Given the description of an element on the screen output the (x, y) to click on. 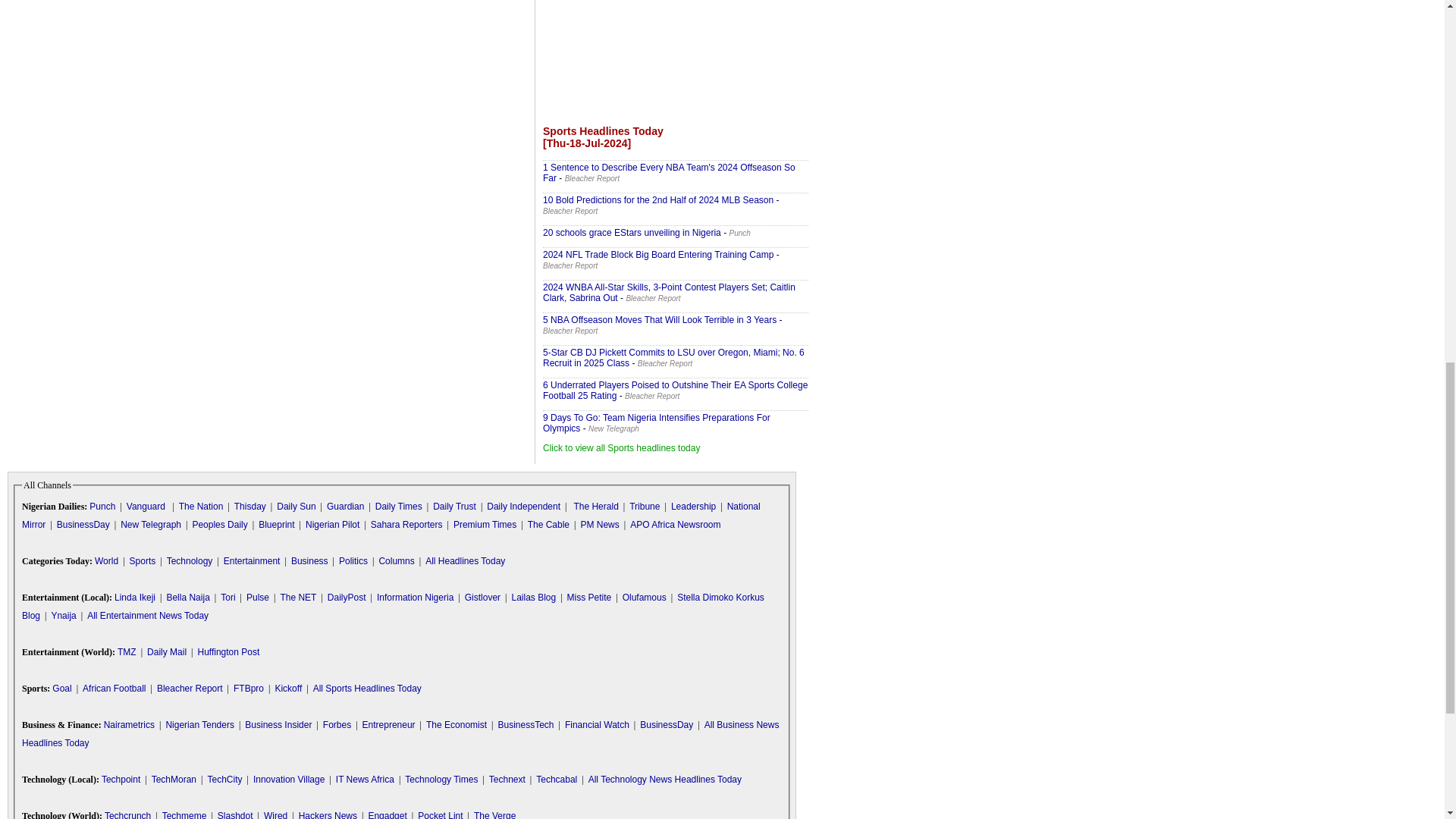
Advertisement (675, 57)
